Given the description of an element on the screen output the (x, y) to click on. 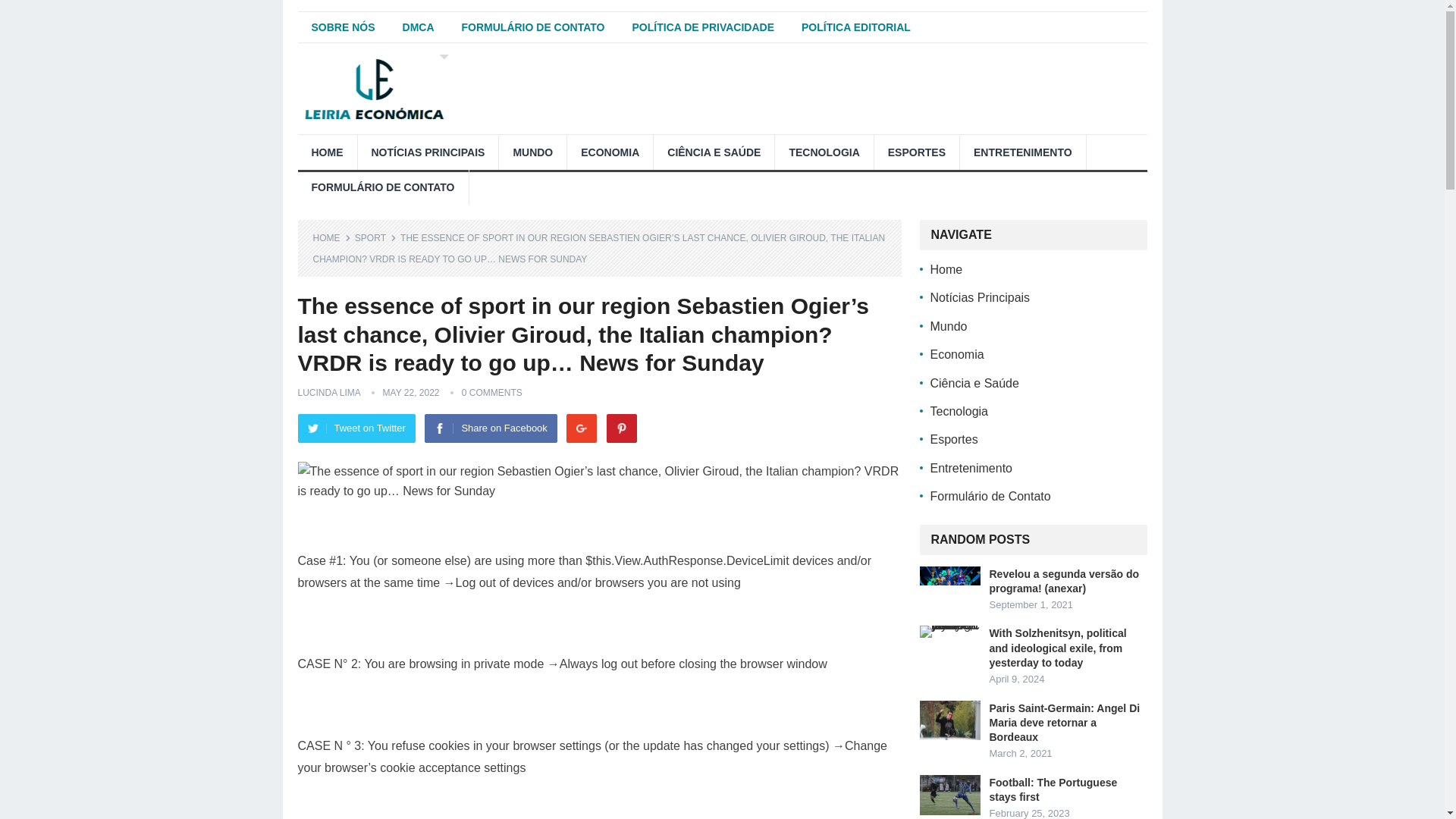
Tweet on Twitter (355, 428)
Share on Facebook (490, 428)
View all posts in sport (375, 237)
Pinterest (622, 428)
TECNOLOGIA (823, 152)
0 COMMENTS (491, 392)
Paris Saint-Germain: Angel Di Maria deve retornar a Bordeaux (948, 721)
Posts by Lucinda Lima (328, 392)
HOME (331, 237)
